Given the description of an element on the screen output the (x, y) to click on. 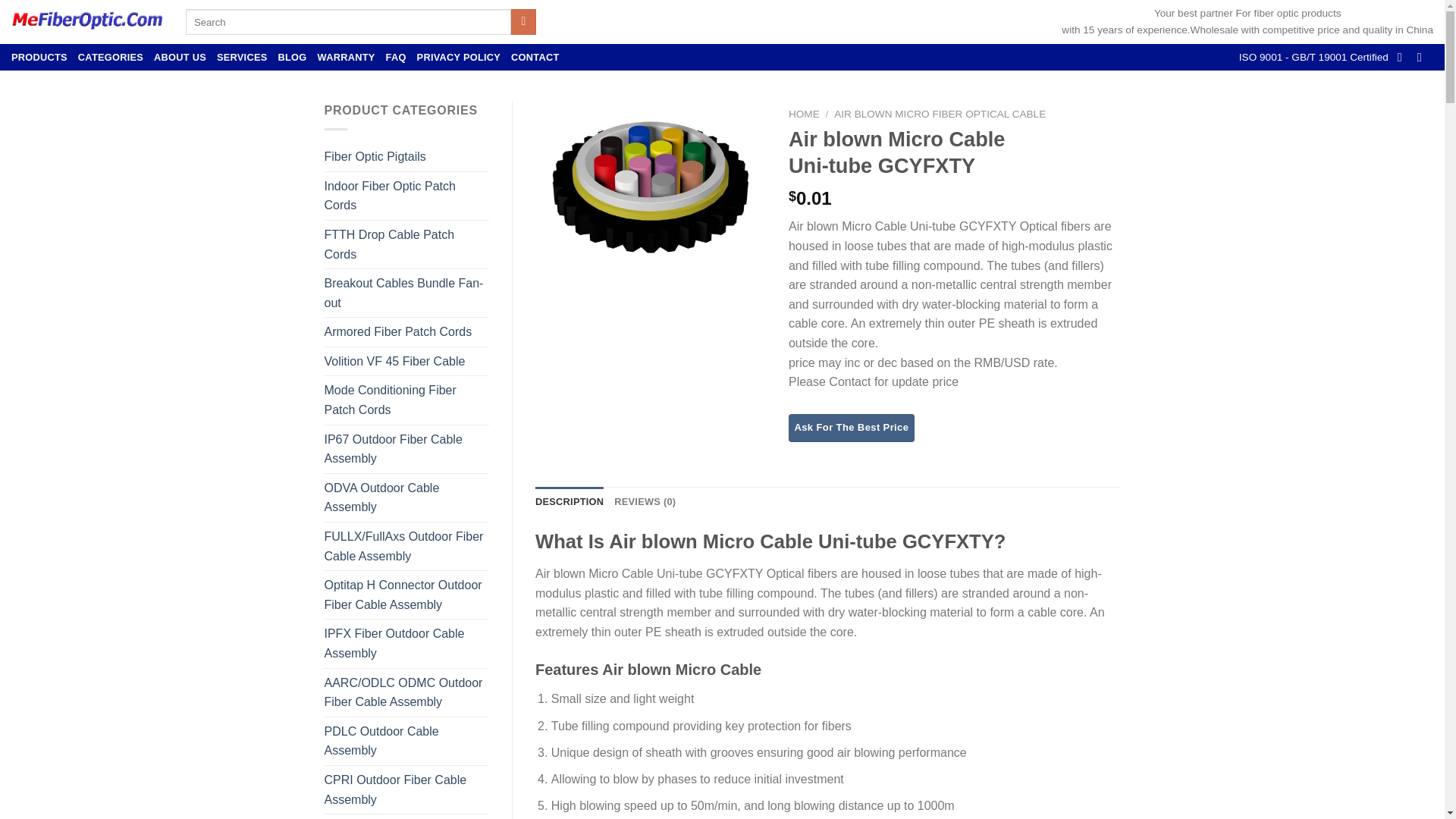
Optitap H Connector Outdoor Fiber Cable Assembly (406, 594)
PRODUCTS (38, 57)
Mode Conditioning Fiber Patch Cords (406, 399)
CPRI Outdoor Fiber Cable Assembly (406, 789)
BLOG (292, 57)
ABOUT US (180, 57)
NSN Boot Fiber Optic Jumper Cable Assembly (406, 816)
WARRANTY (346, 57)
IPFX Fiber Outdoor Cable Assembly (406, 643)
Indoor Fiber Optic Patch Cords (406, 195)
Breakout Cables Bundle Fan-out (406, 292)
CONTACT (535, 57)
PRIVACY POLICY (458, 57)
ODVA Outdoor Cable Assembly (406, 497)
IP67 Outdoor Fiber Cable Assembly (406, 449)
